Given the description of an element on the screen output the (x, y) to click on. 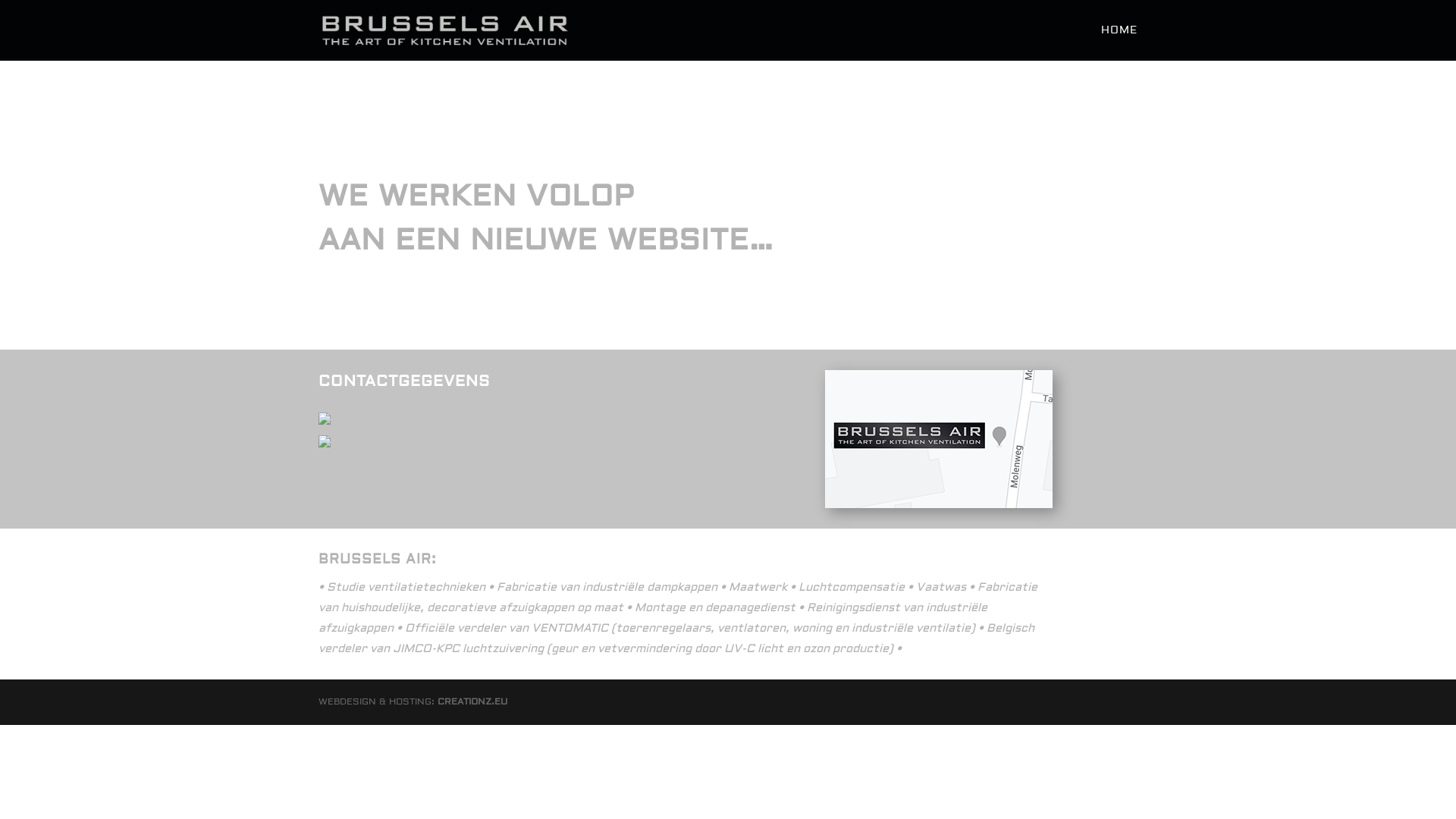
Brussels Air route Element type: hover (938, 439)
CREATIONZ.EU Element type: text (472, 701)
HOME Element type: text (1119, 42)
